Given the description of an element on the screen output the (x, y) to click on. 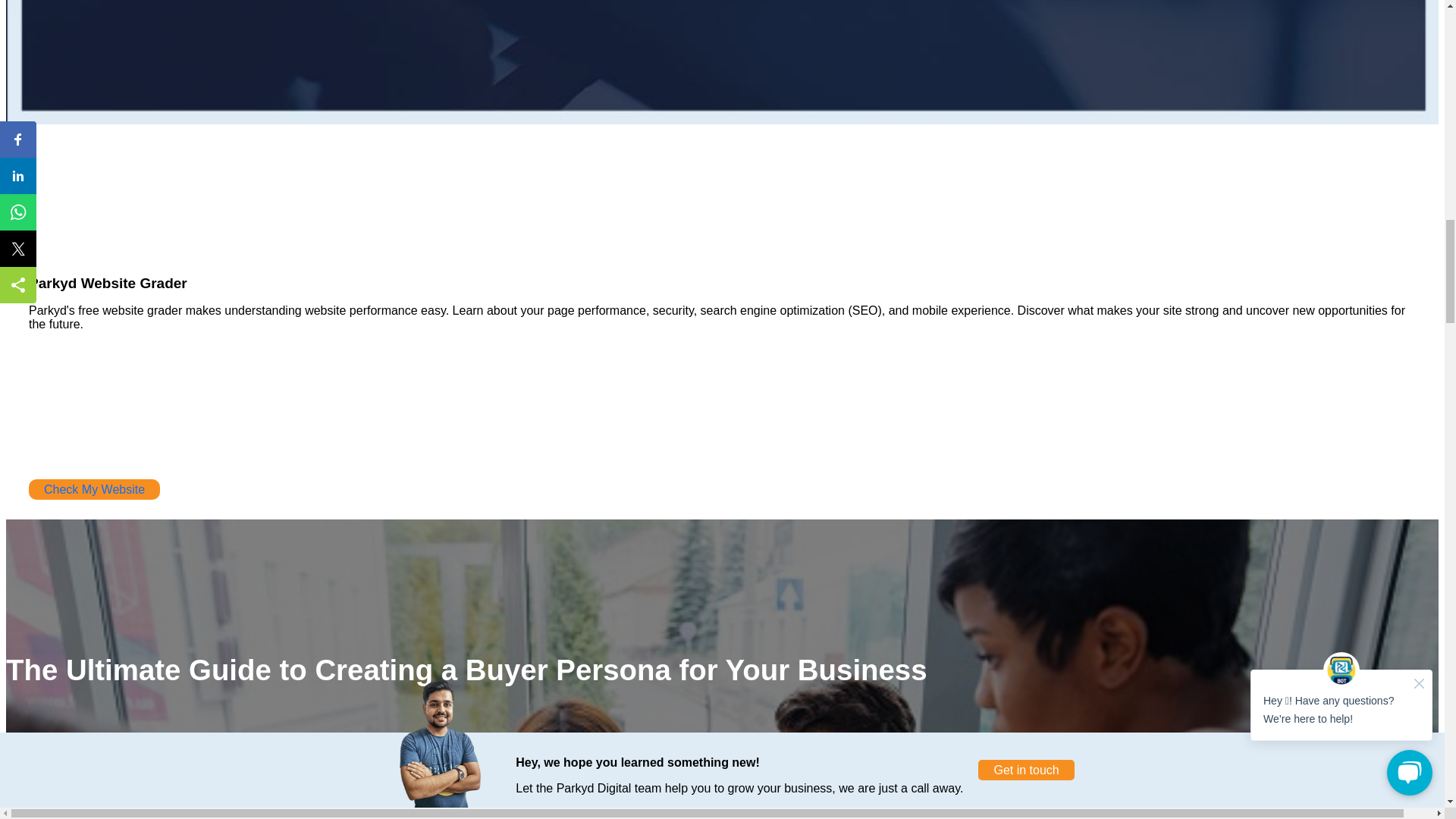
Check My Website (94, 489)
